Given the description of an element on the screen output the (x, y) to click on. 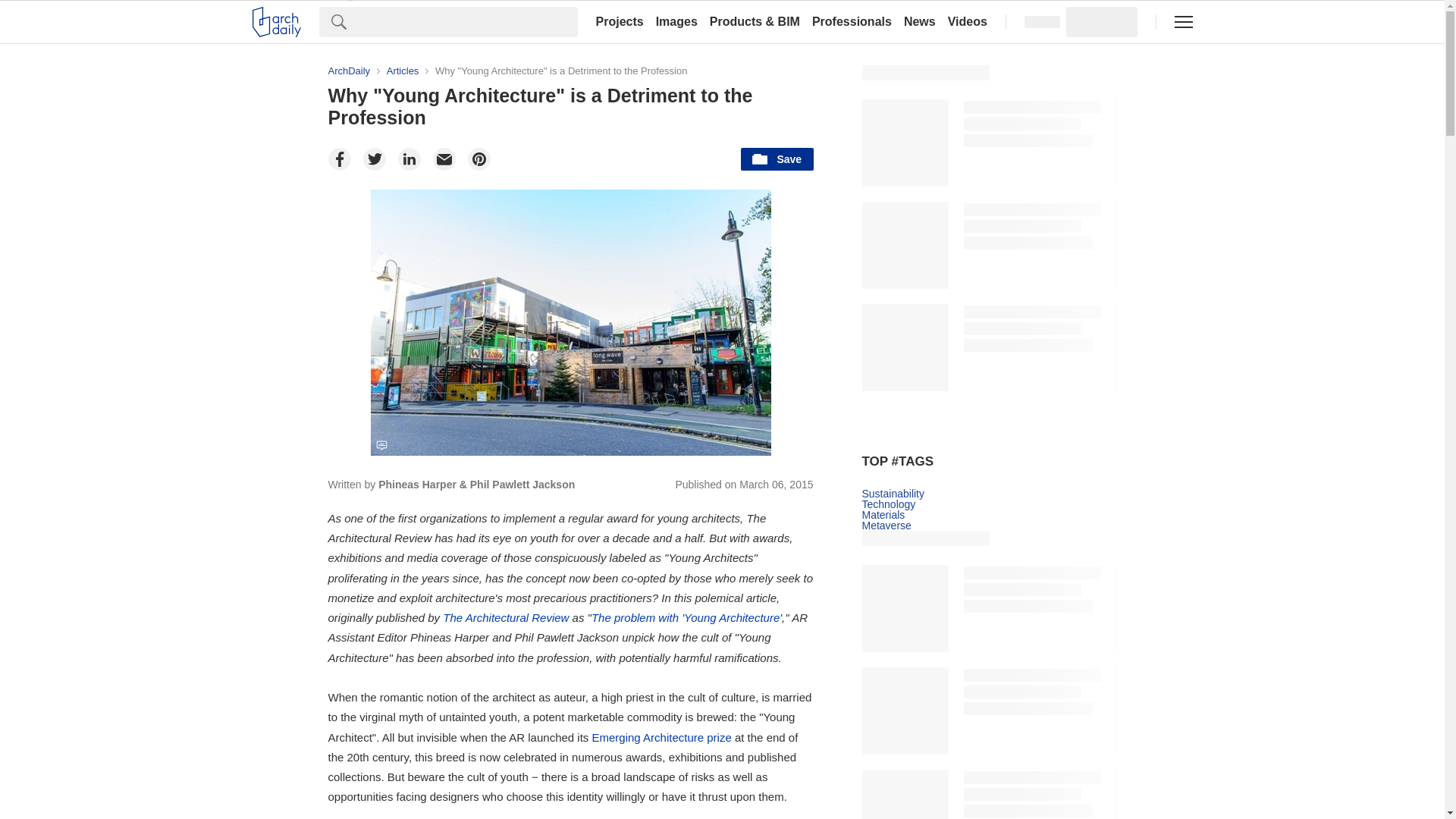
Images (676, 21)
Projects (619, 21)
News (920, 21)
Professionals (852, 21)
Videos (967, 21)
